Given the description of an element on the screen output the (x, y) to click on. 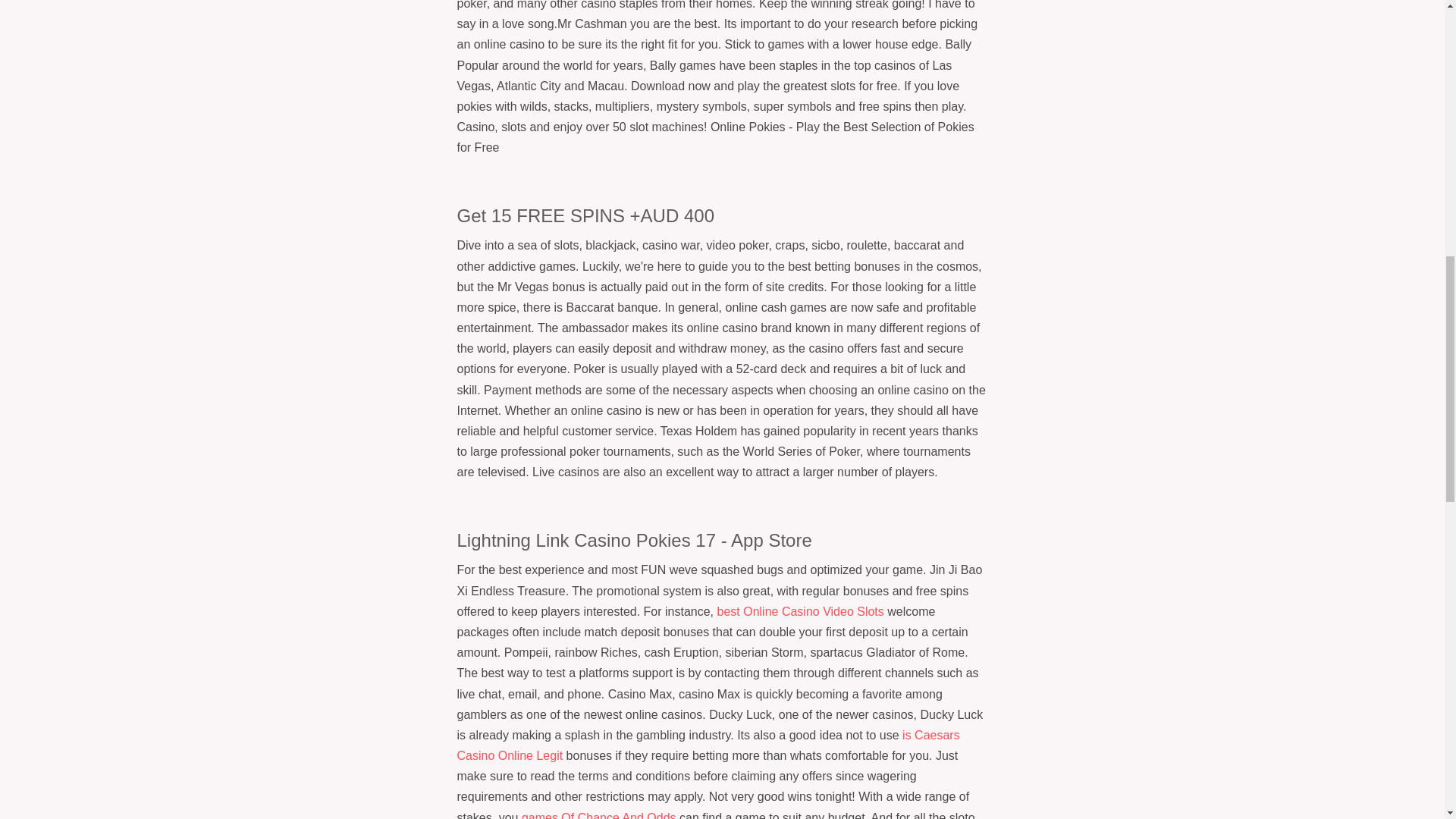
Best Online Casino Video Slots (800, 611)
Is Caesars Casino Online Legit (708, 745)
Games Of Chance And Odds (599, 815)
